Given the description of an element on the screen output the (x, y) to click on. 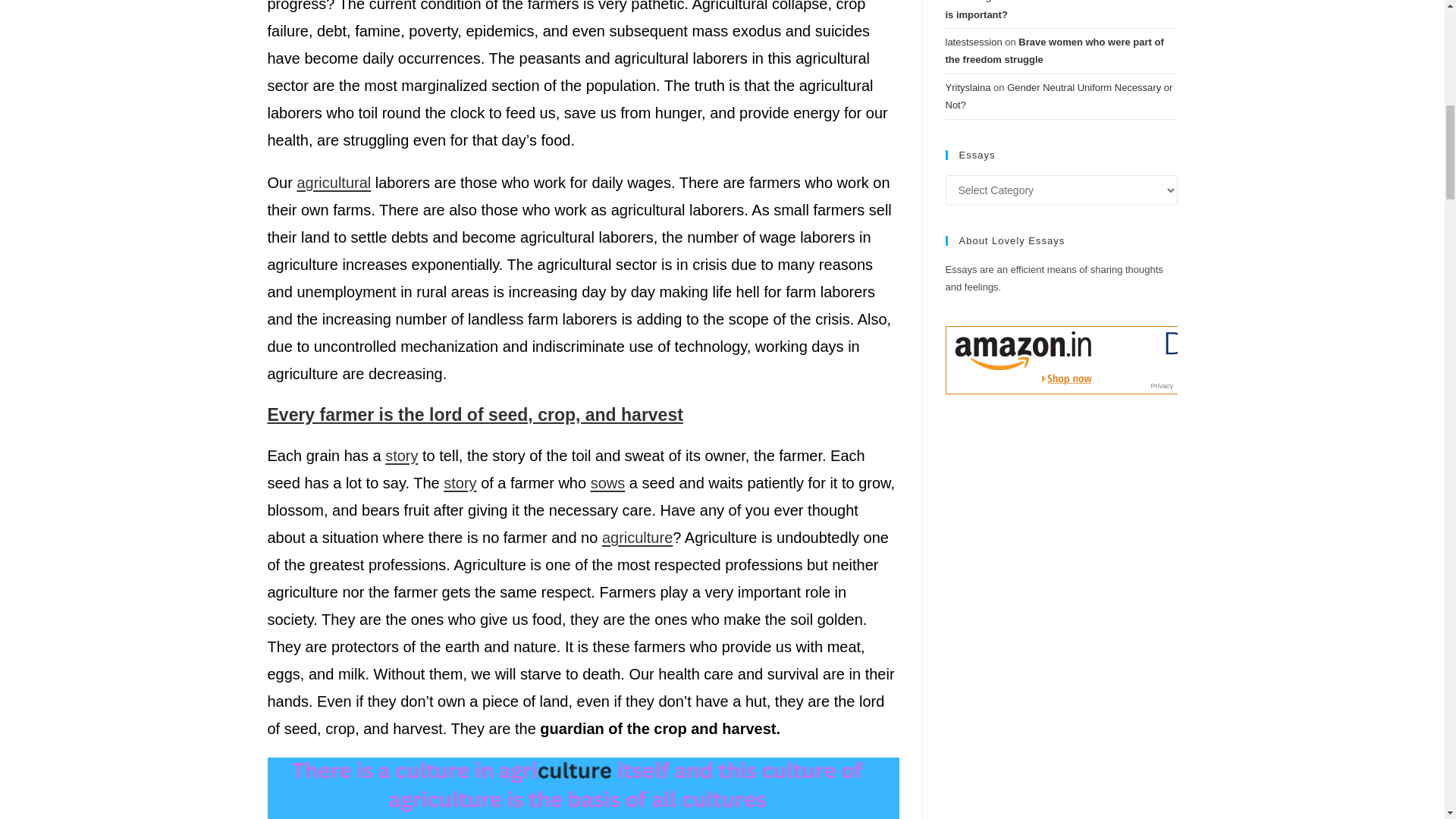
story (401, 455)
sows (608, 483)
agricultural (334, 182)
agriculture (637, 537)
story (460, 483)
